Given the description of an element on the screen output the (x, y) to click on. 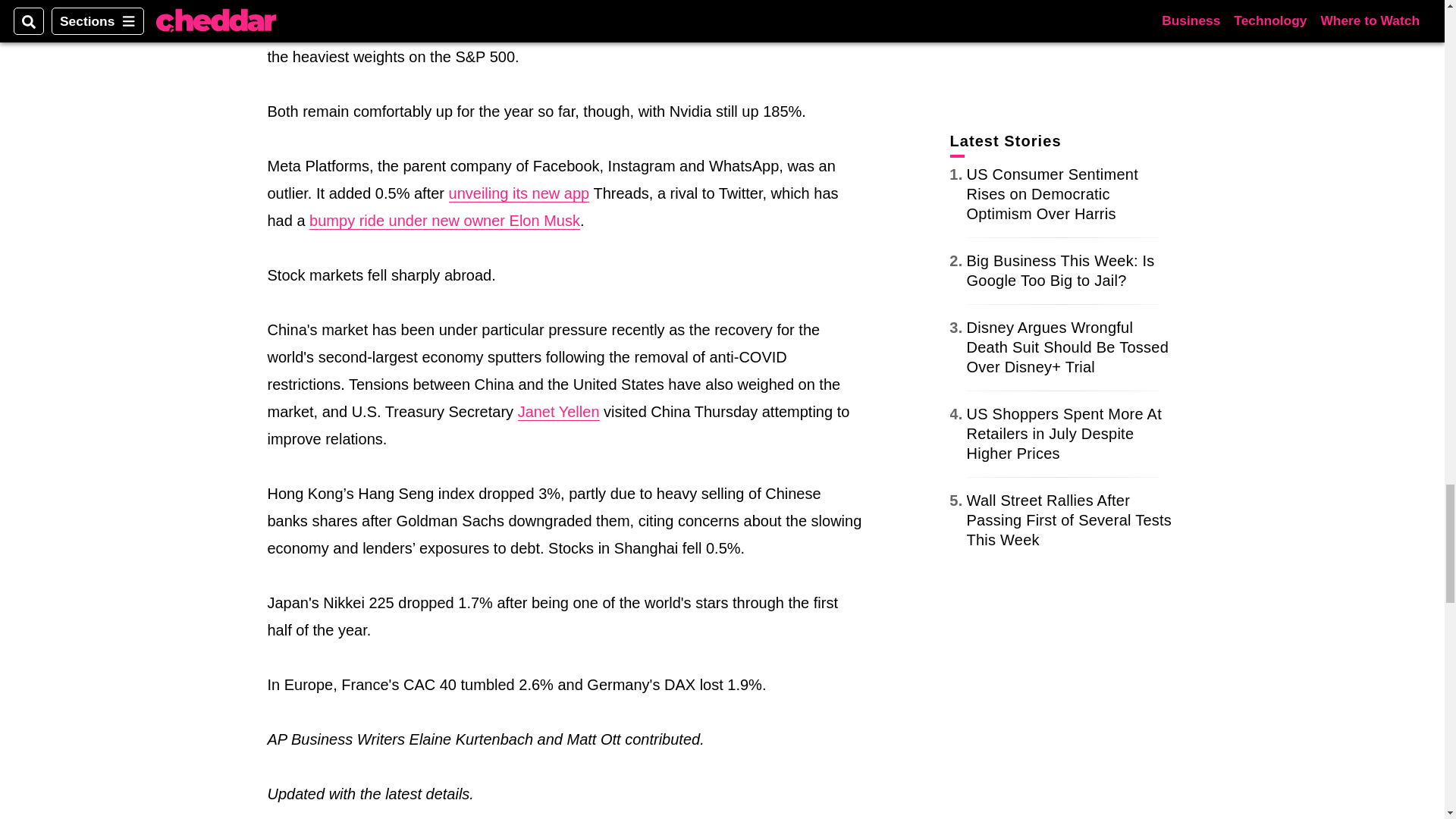
bumpy ride under new owner Elon Musk (443, 221)
Janet Yellen (558, 411)
unveiling its new app (518, 193)
